Given the description of an element on the screen output the (x, y) to click on. 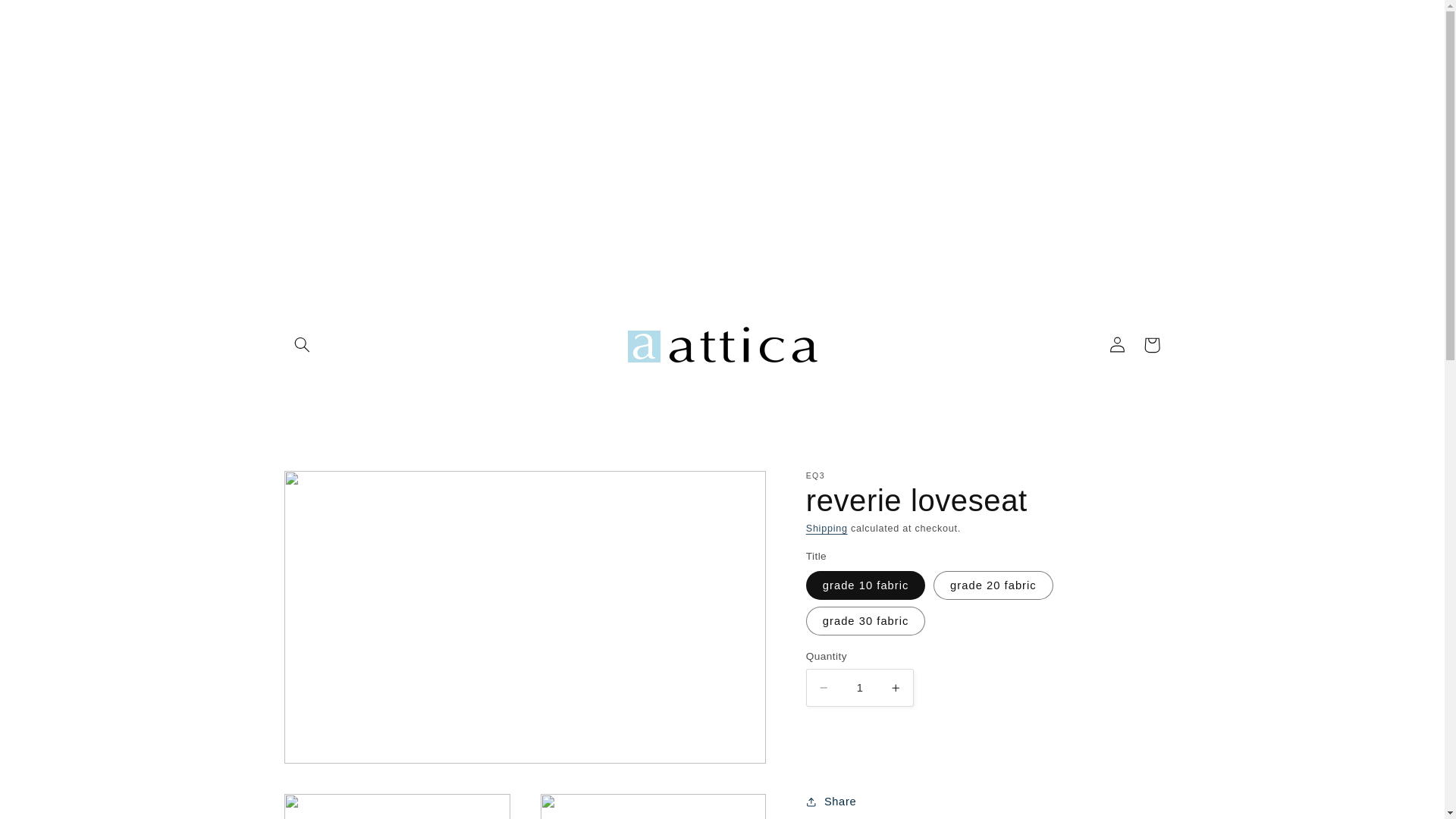
Decrease quantity for reverie loveseat Element type: text (823, 687)
Skip to product information Element type: text (331, 487)
Log in Element type: text (1116, 344)
Increase quantity for reverie loveseat Element type: text (895, 687)
Cart Element type: text (1151, 344)
Shipping Element type: text (826, 528)
